Given the description of an element on the screen output the (x, y) to click on. 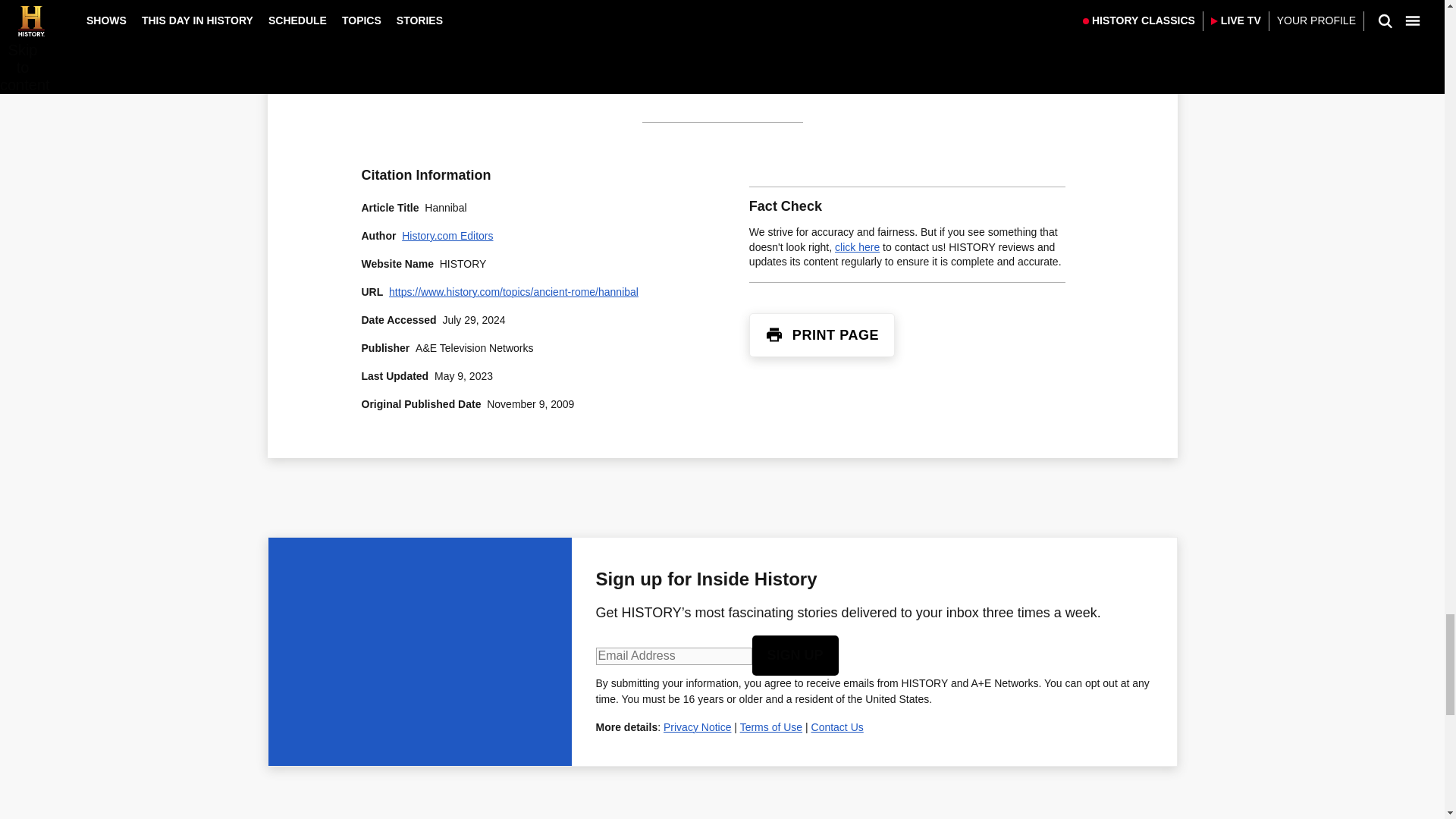
Print (774, 334)
